Given the description of an element on the screen output the (x, y) to click on. 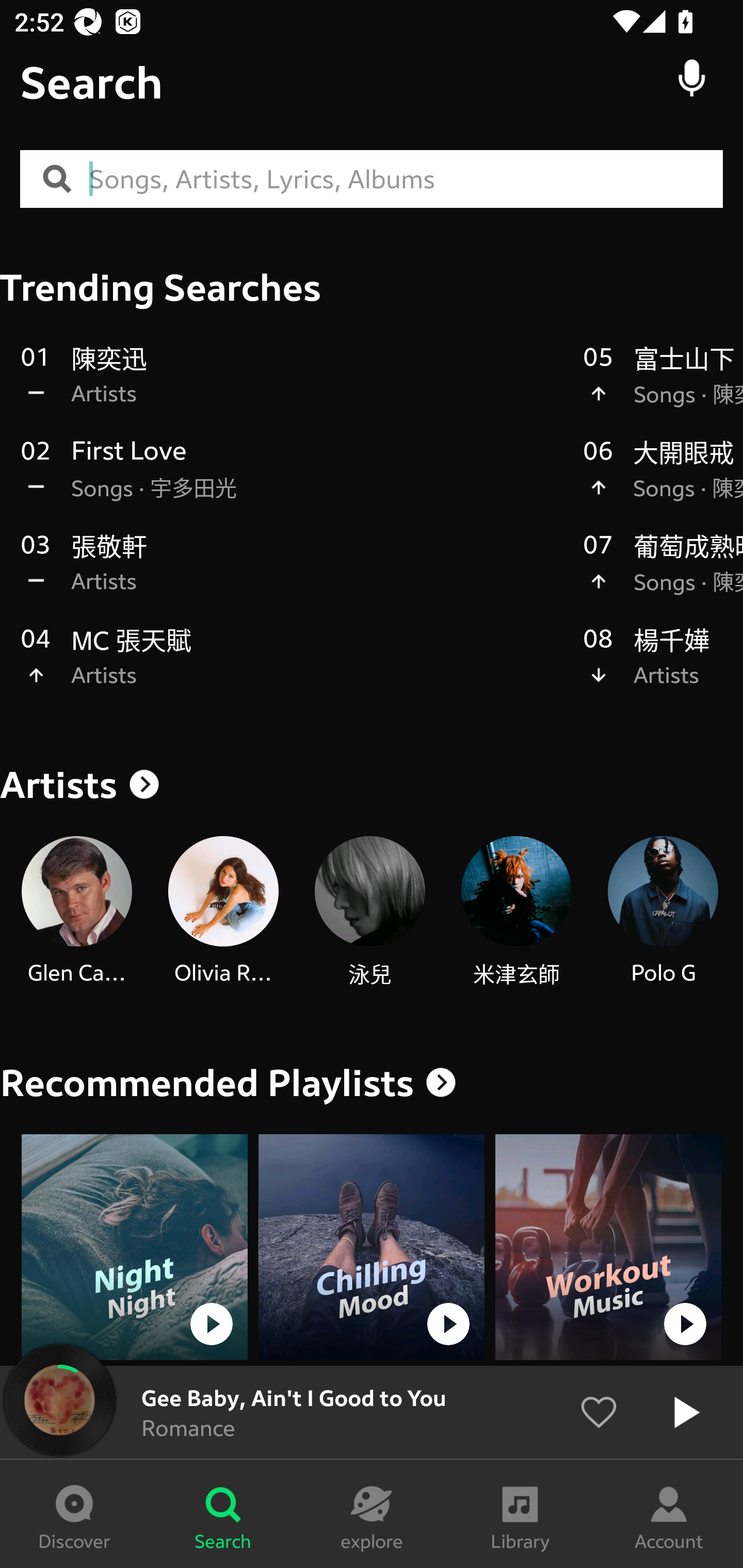
Songs, Artists, Lyrics, Albums (405, 179)
01 陳奕迅 Artists (291, 385)
05 富士山下 Songs · 陳奕迅 (663, 385)
02 First Love Songs · 宇多田光 (291, 479)
06 大開眼戒 Songs · 陳奕迅 (663, 479)
03 張敬軒 Artists (291, 573)
07 葡萄成熟時 Songs · 陳奕迅 (663, 573)
04 MC 張天賦 Artists (291, 667)
08 楊千嬅 Artists (663, 667)
Artists (371, 784)
Glen Campbell (76, 911)
Olivia Rodrigo (222, 911)
泳兒 (369, 912)
米津玄師 (516, 912)
Polo G (662, 911)
Recommended Playlists (206, 1082)
Gee Baby, Ain't I Good to You Romance (371, 1412)
Discover (74, 1513)
explore (371, 1513)
Library (519, 1513)
Account (668, 1513)
